Given the description of an element on the screen output the (x, y) to click on. 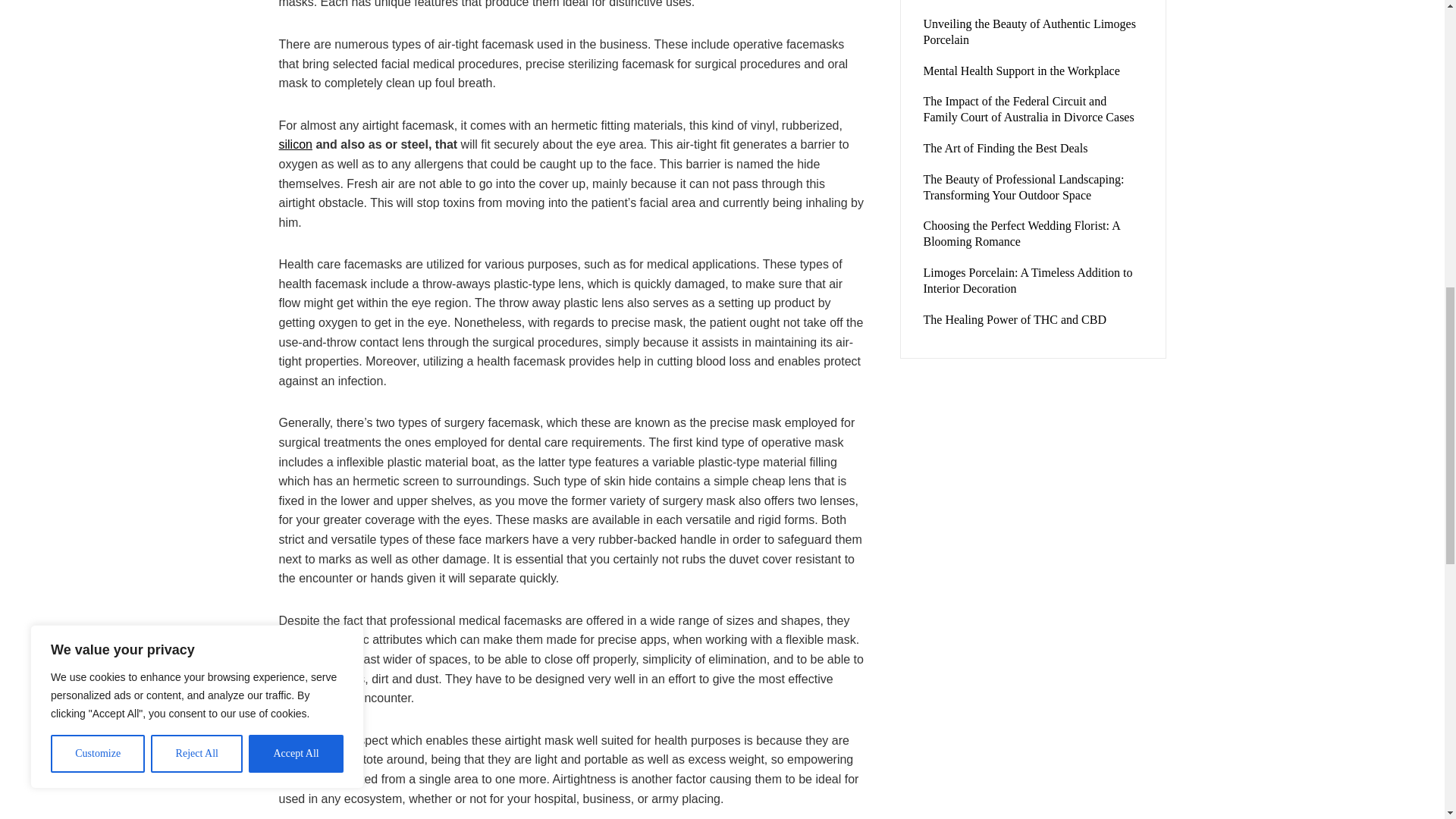
silicon (296, 144)
